Given the description of an element on the screen output the (x, y) to click on. 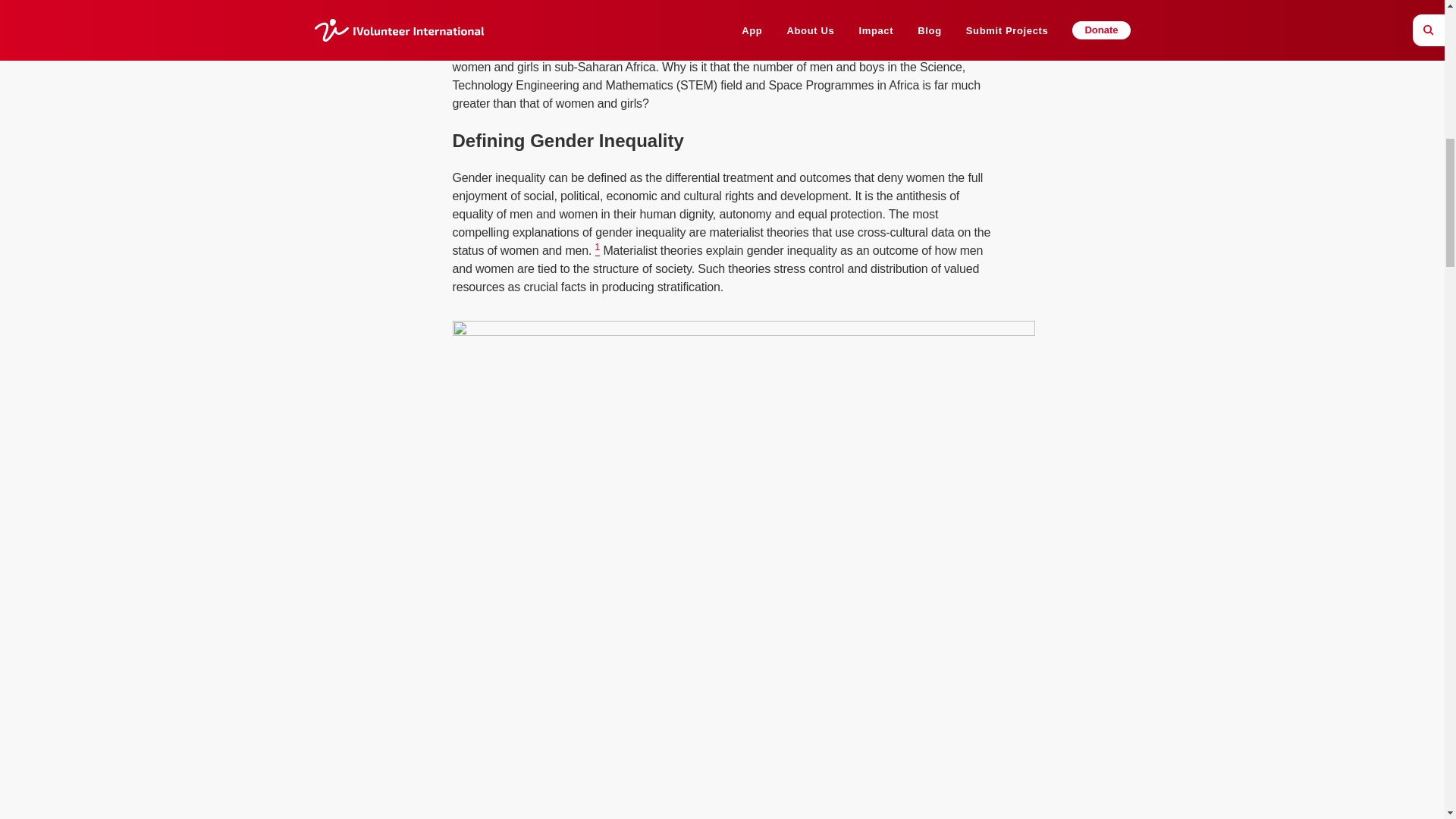
1 (597, 250)
